Given the description of an element on the screen output the (x, y) to click on. 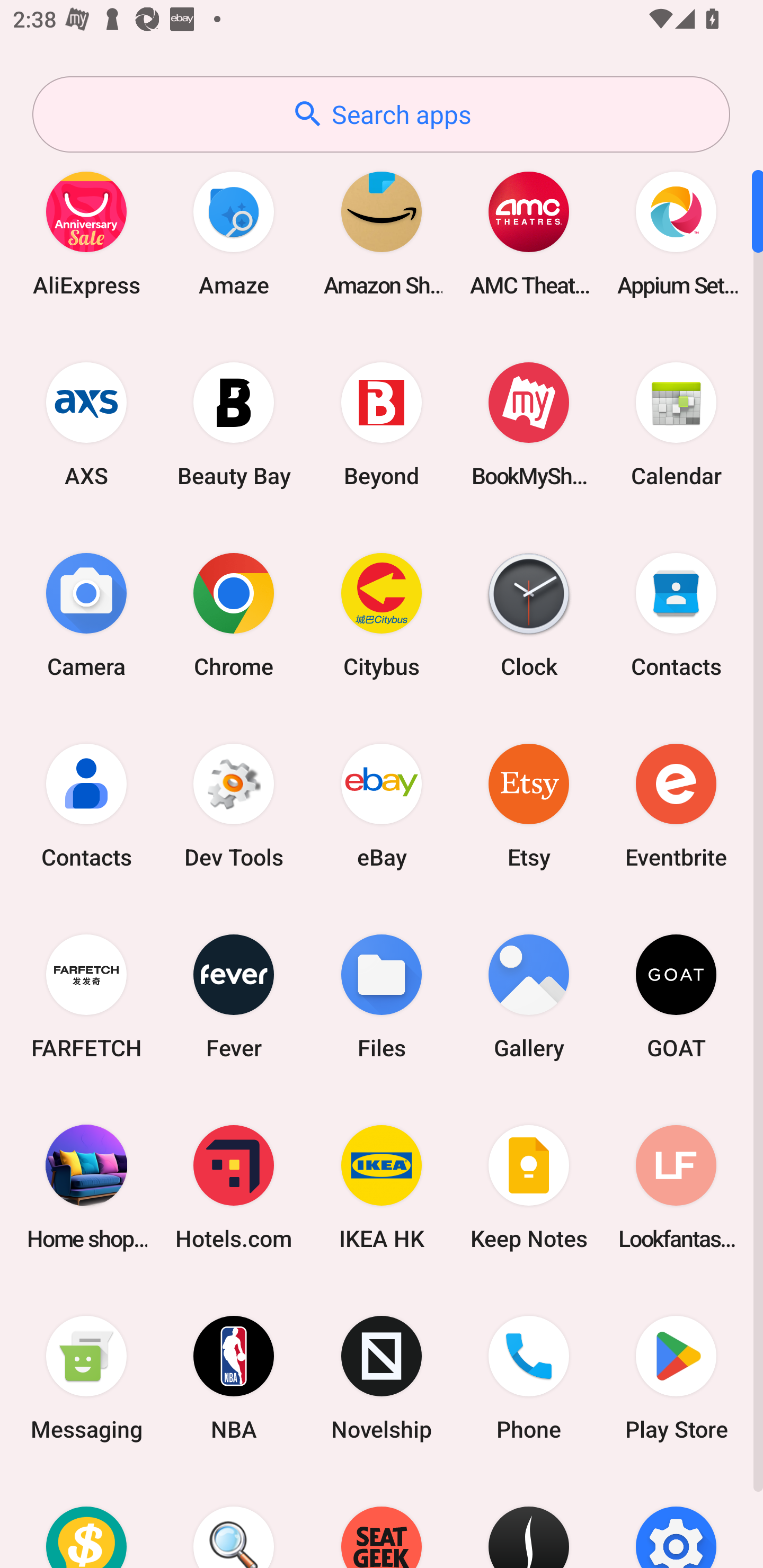
  Search apps (381, 114)
AliExpress (86, 233)
Amaze (233, 233)
Amazon Shopping (381, 233)
AMC Theatres (528, 233)
Appium Settings (676, 233)
AXS (86, 424)
Beauty Bay (233, 424)
Beyond (381, 424)
BookMyShow (528, 424)
Calendar (676, 424)
Camera (86, 614)
Chrome (233, 614)
Citybus (381, 614)
Clock (528, 614)
Contacts (676, 614)
Contacts (86, 805)
Dev Tools (233, 805)
eBay (381, 805)
Etsy (528, 805)
Eventbrite (676, 805)
FARFETCH (86, 996)
Fever (233, 996)
Files (381, 996)
Gallery (528, 996)
GOAT (676, 996)
Home shopping (86, 1186)
Hotels.com (233, 1186)
IKEA HK (381, 1186)
Keep Notes (528, 1186)
Lookfantastic (676, 1186)
Messaging (86, 1377)
NBA (233, 1377)
Novelship (381, 1377)
Phone (528, 1377)
Play Store (676, 1377)
